Given the description of an element on the screen output the (x, y) to click on. 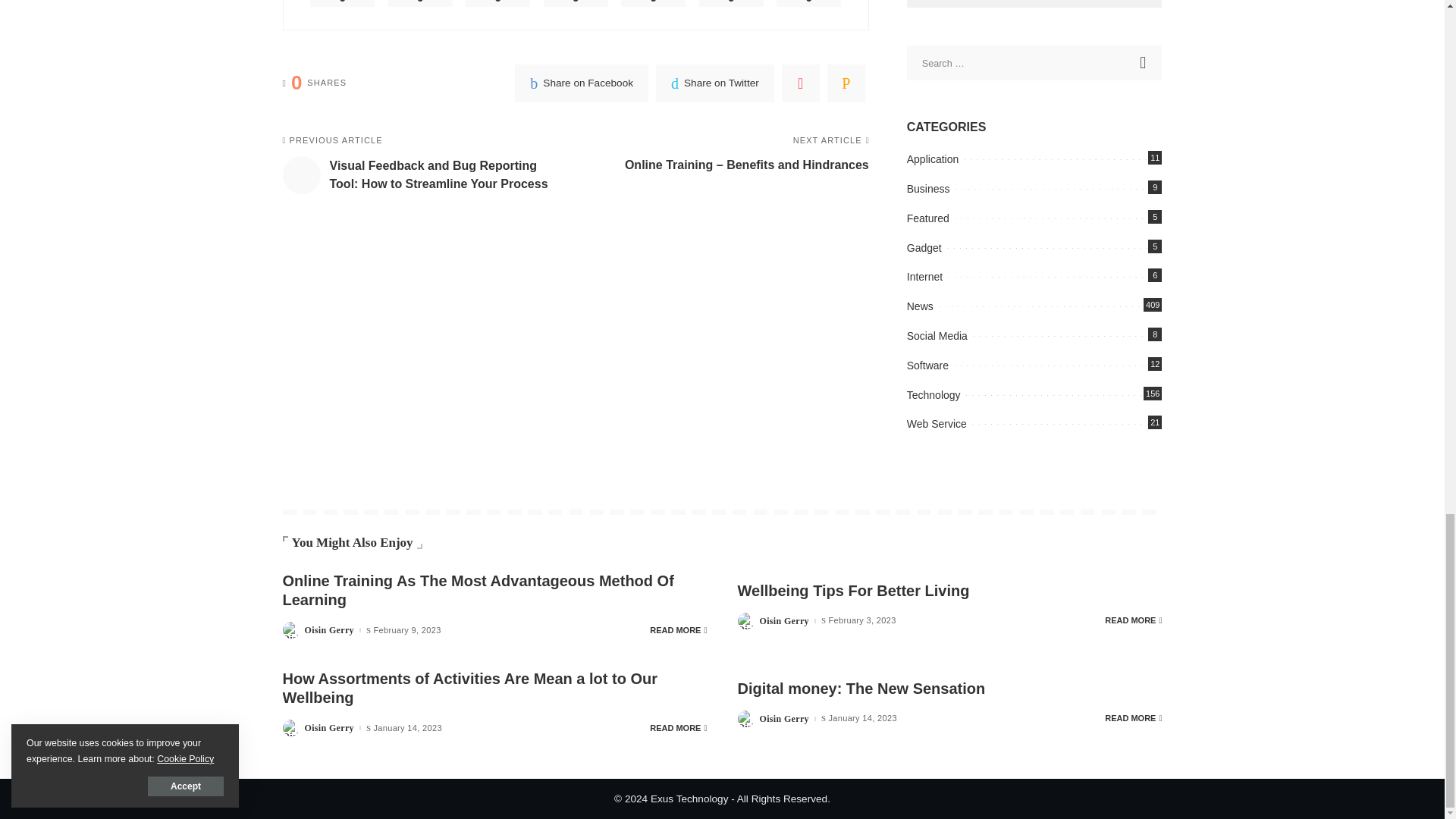
Search (1143, 62)
Search (1143, 62)
